Given the description of an element on the screen output the (x, y) to click on. 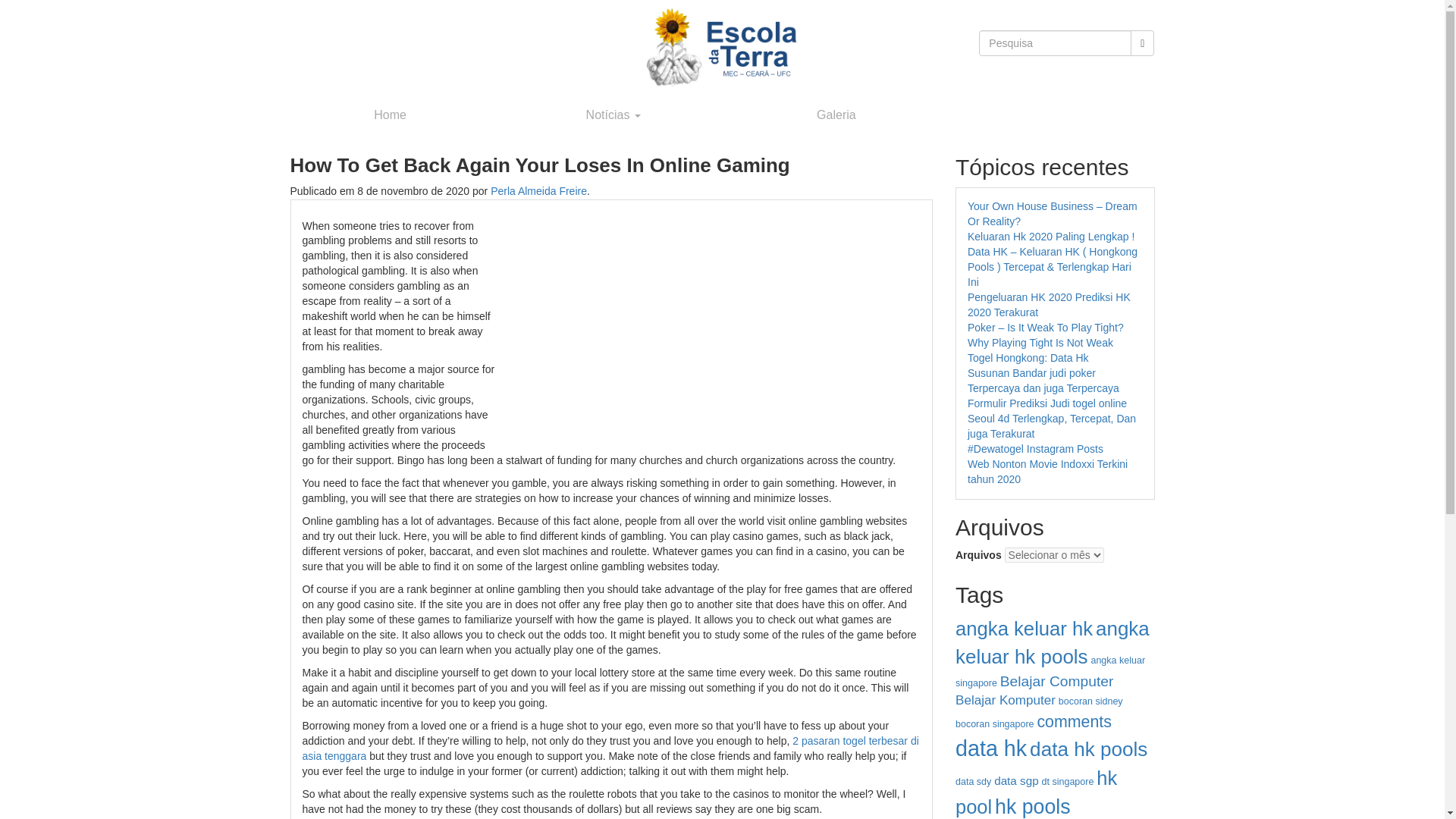
Escolada Terra (721, 46)
Keluaran Hk 2020 Paling Lengkap ! (1051, 236)
Galeria (836, 115)
Pengeluaran HK 2020 Prediksi HK 2020 Terakurat (1049, 304)
2 pasaran togel terbesar di asia tenggara (609, 748)
angka keluar hk (1024, 628)
angka keluar hk pools (1052, 642)
Web Nonton Movie Indoxxi Terkini tahun 2020 (1047, 471)
Belajar Komputer (1005, 699)
Belajar Computer (1056, 681)
